Given the description of an element on the screen output the (x, y) to click on. 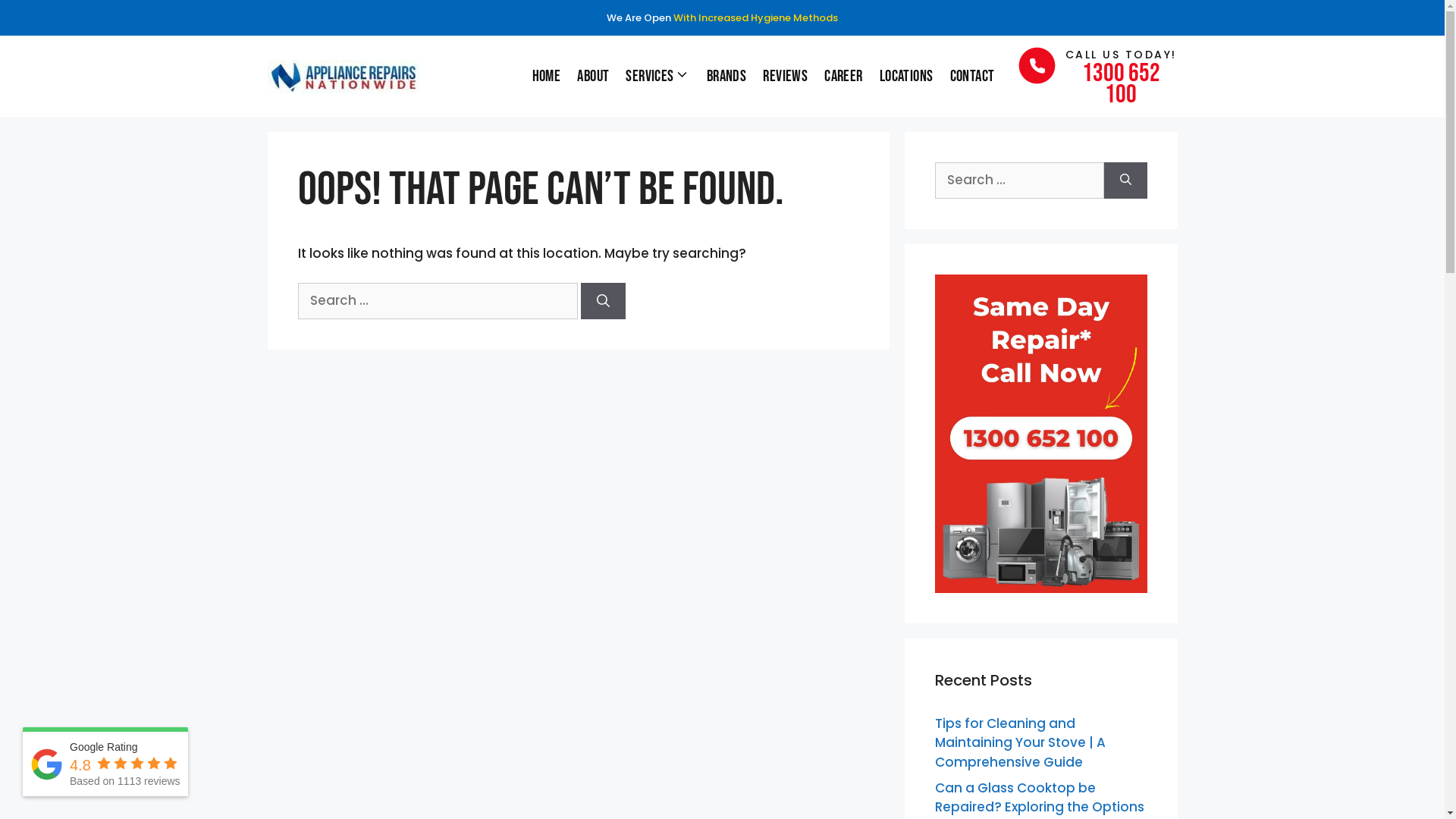
About Element type: text (592, 75)
Search for: Element type: hover (1018, 180)
Services Element type: text (657, 75)
Career Element type: text (843, 75)
Search for: Element type: hover (437, 300)
Reviews Element type: text (784, 75)
Contact Element type: text (972, 75)
Locations Element type: text (906, 75)
Home Element type: text (546, 75)
Brands Element type: text (726, 75)
CALL US TODAY!
1300 652 100 Element type: text (1096, 76)
Can a Glass Cooktop be Repaired? Exploring the Options Element type: text (1038, 796)
